Given the description of an element on the screen output the (x, y) to click on. 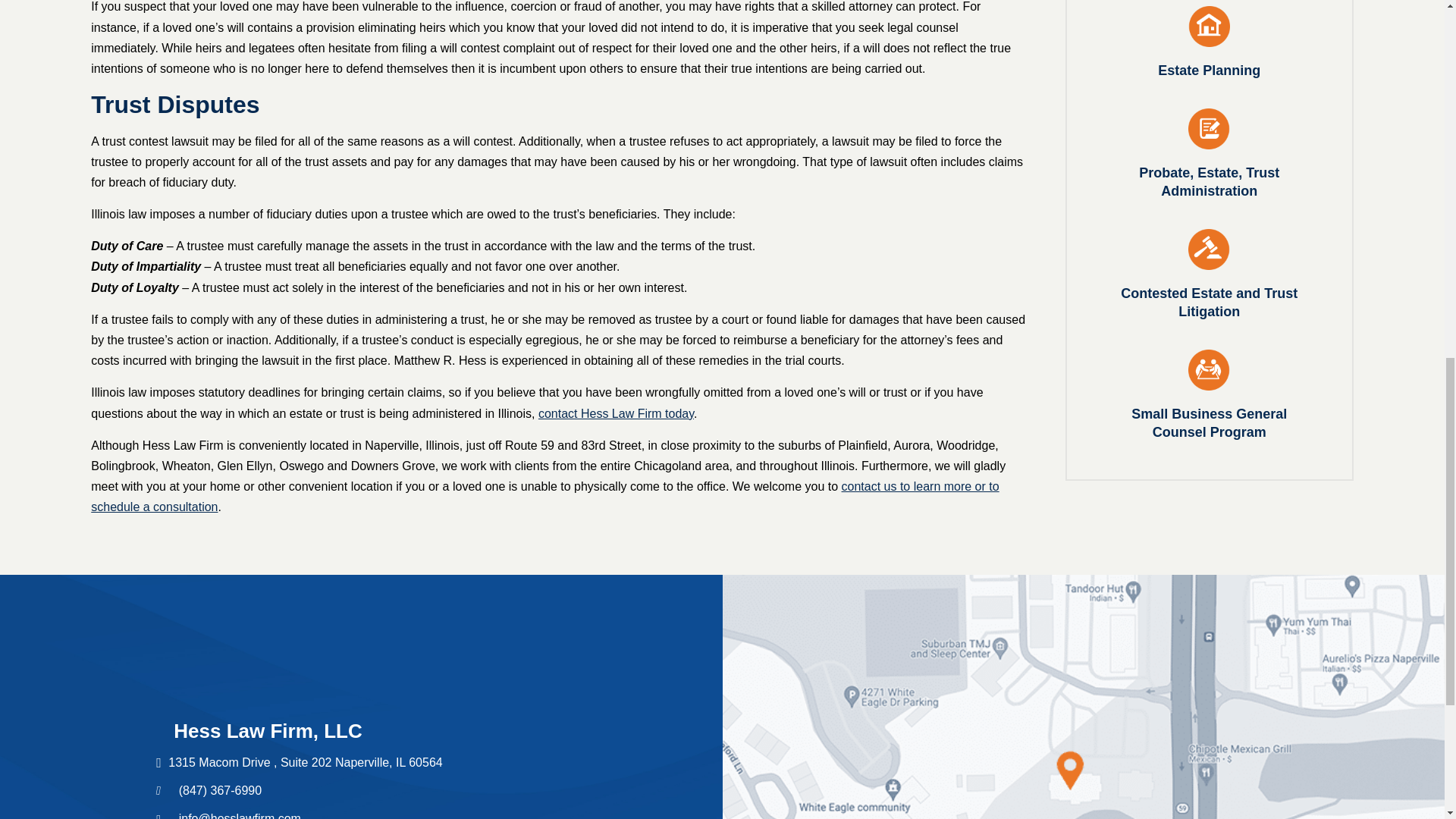
Email (240, 815)
Read more about Contested Estate and Trust Litigation (1209, 271)
Read more about Estate Planning (1209, 39)
Read more about Small Business General Counsel Program (1209, 392)
Read more about Probate, Estate, Trust Administration (1209, 150)
